Given the description of an element on the screen output the (x, y) to click on. 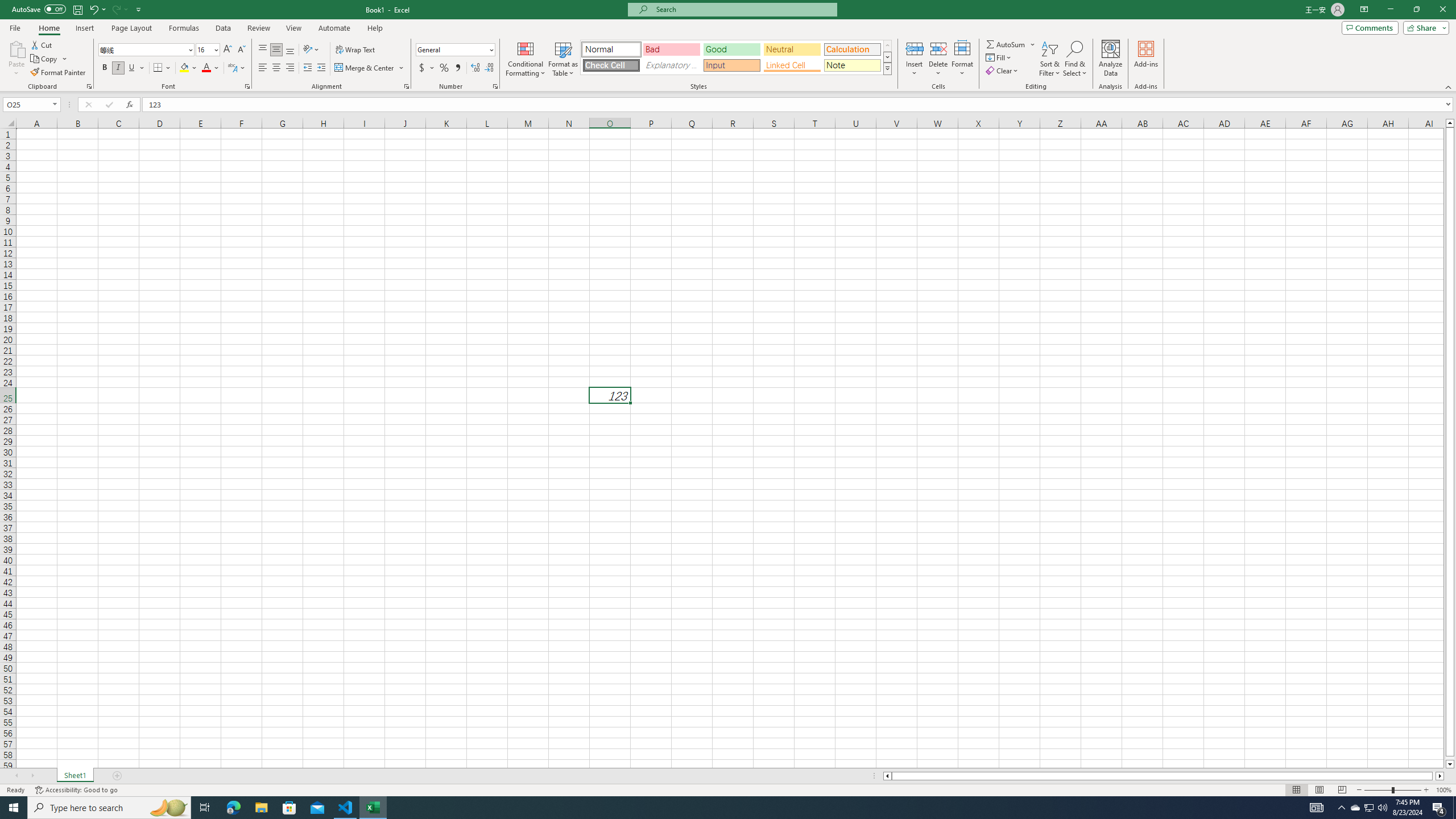
Fill (999, 56)
Bad (671, 49)
Show Phonetic Field (236, 67)
Format Cell Alignment (405, 85)
Format as Table (563, 58)
Find & Select (1075, 58)
Paste (16, 48)
Cell Styles (887, 68)
Format Cell Number (494, 85)
